Given the description of an element on the screen output the (x, y) to click on. 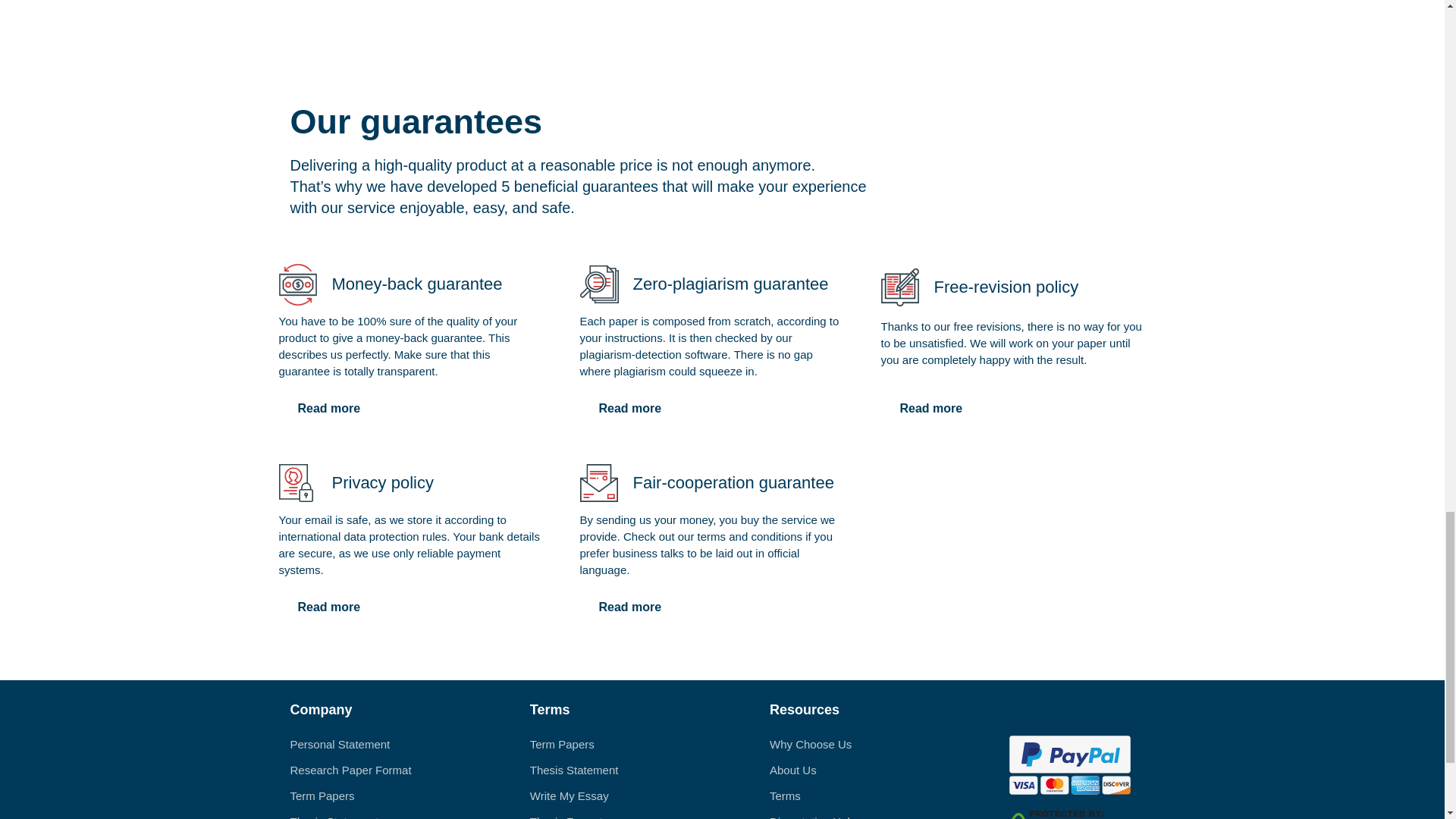
Read more (930, 409)
Research Paper Format (349, 769)
Read more (629, 607)
Term Papers (321, 795)
Personal Statement (339, 744)
Write My Essay (568, 795)
Thesis Statement (333, 816)
Read more (329, 607)
Term Papers (561, 744)
Read more (329, 409)
Read more (629, 409)
Thesis Statement (573, 769)
